Given the description of an element on the screen output the (x, y) to click on. 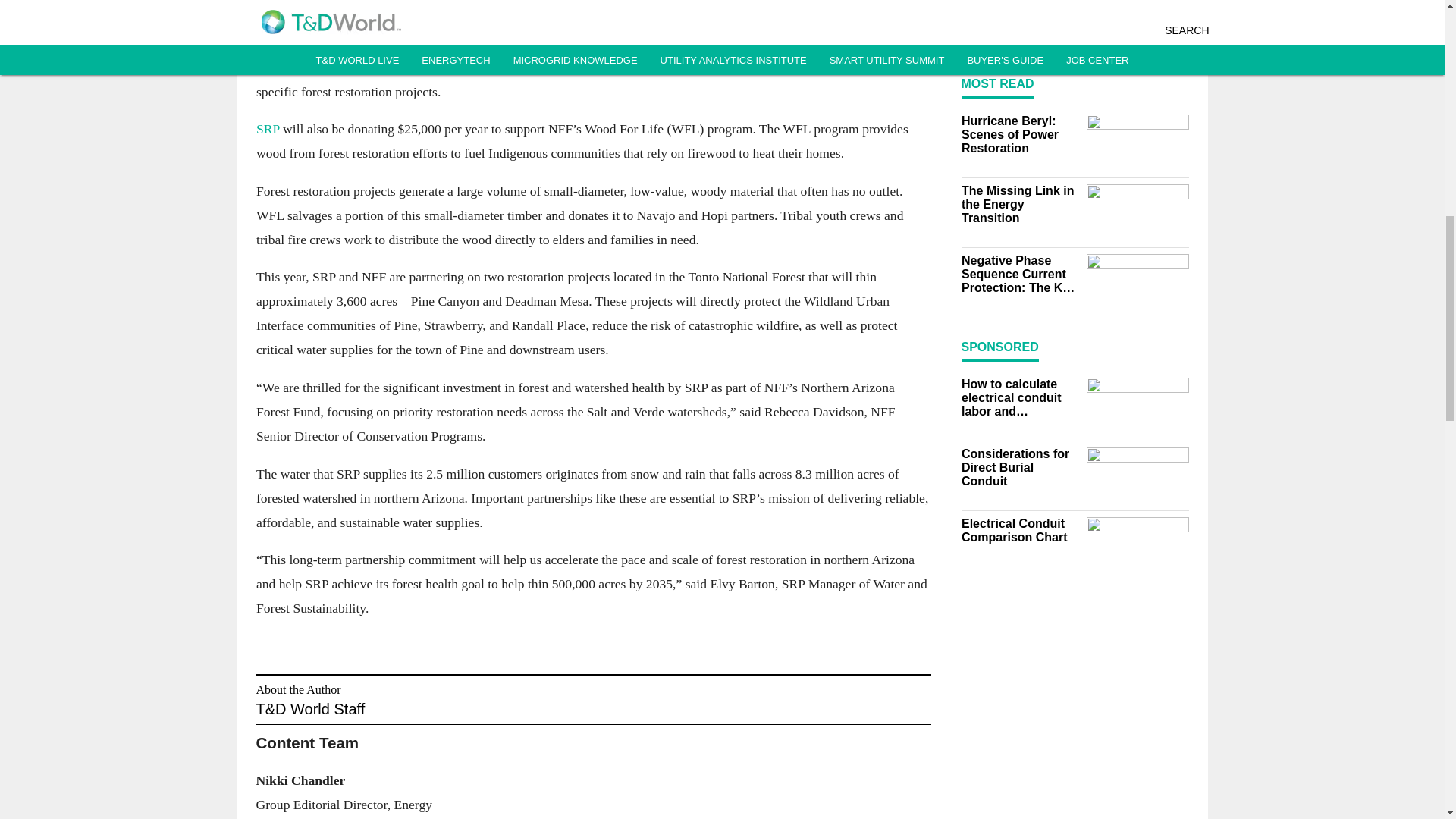
SRP (269, 129)
